Given the description of an element on the screen output the (x, y) to click on. 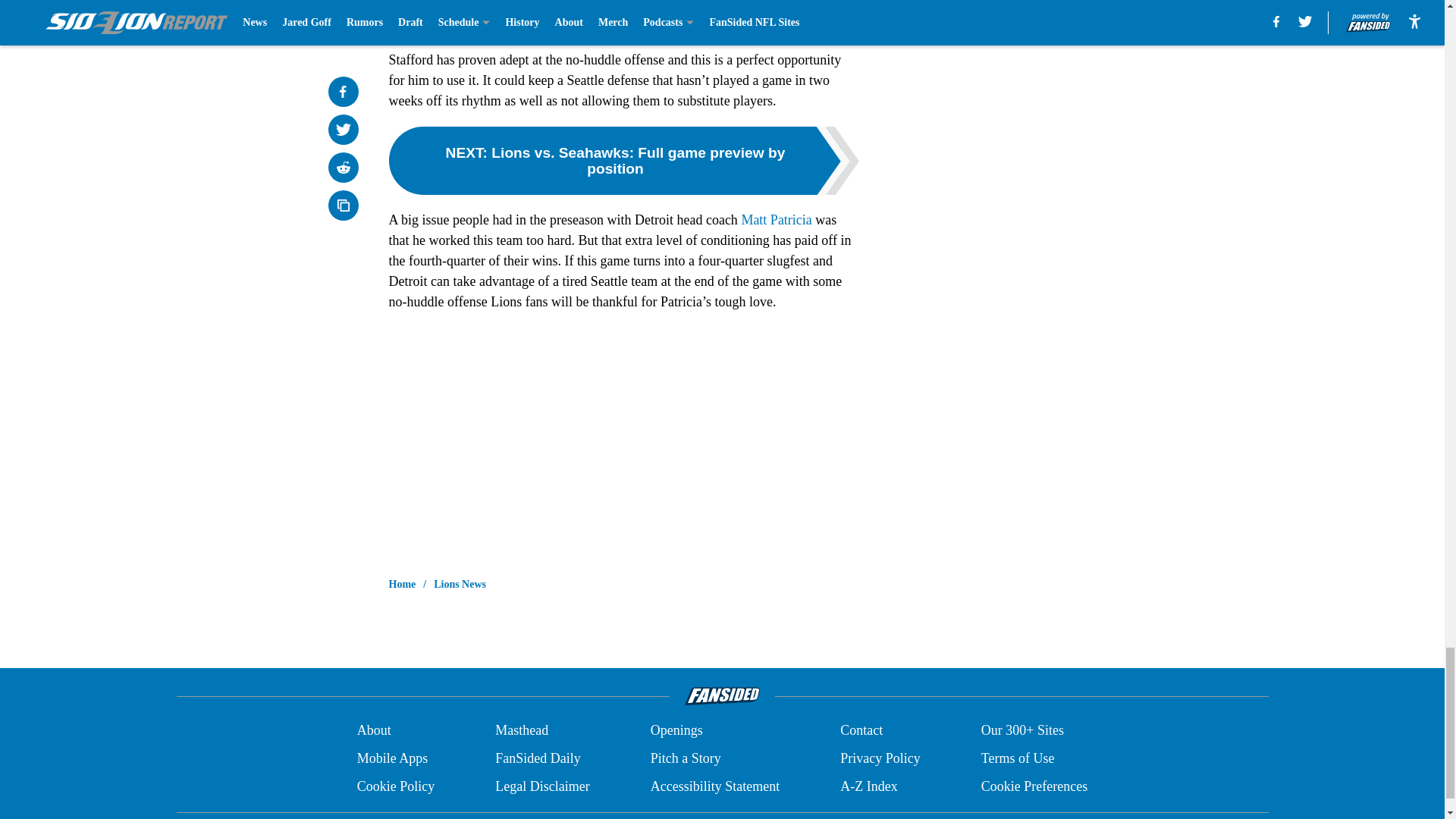
NEXT: Lions vs. Seahawks: Full game preview by position (623, 160)
Home (401, 584)
Matt Patricia (775, 219)
Lions News (459, 584)
